Given the description of an element on the screen output the (x, y) to click on. 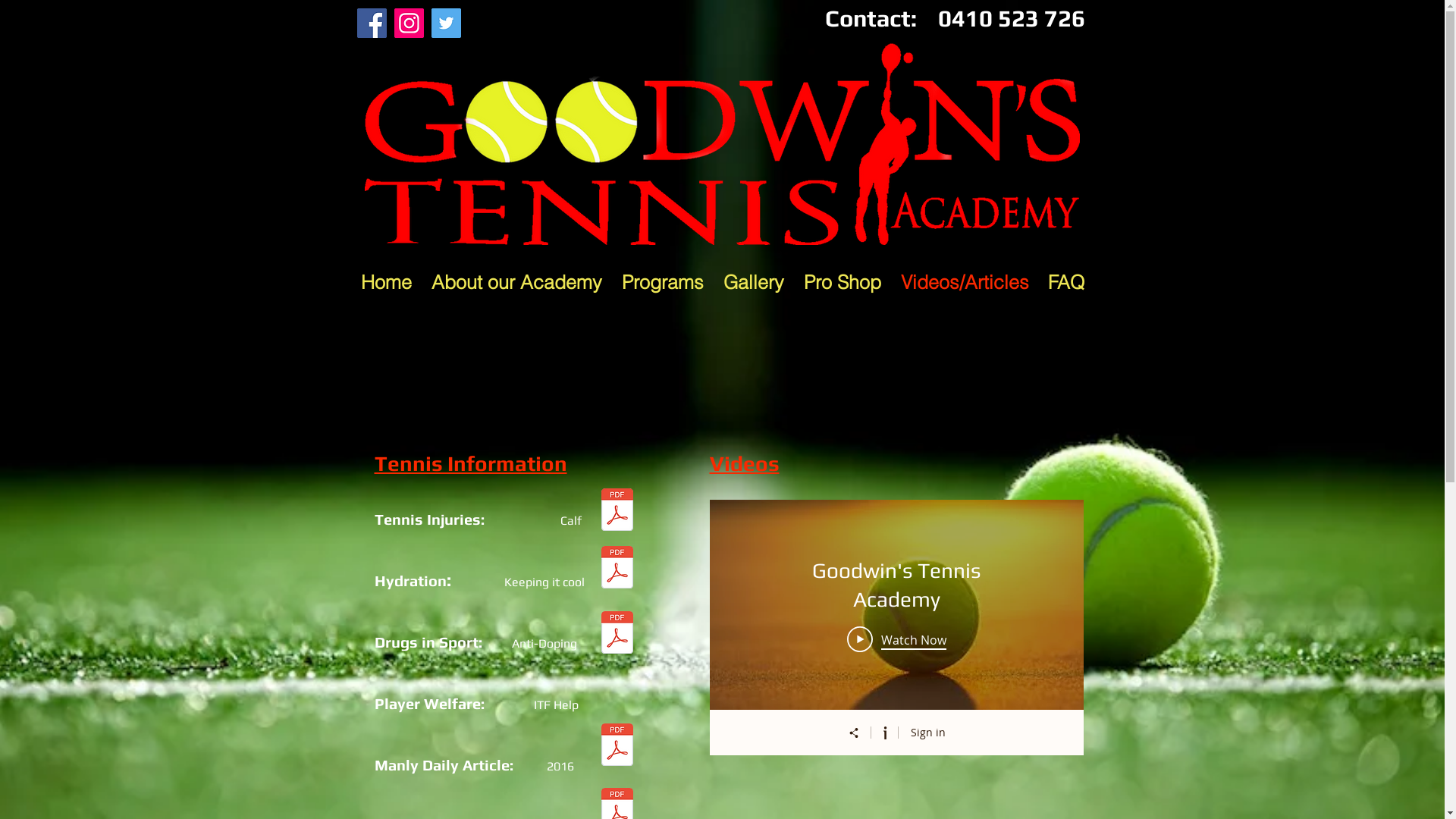
Player Welfare Poster.pdf Element type: hover (617, 745)
Keep your Cool Poster.pdf Element type: hover (617, 568)
Programs Element type: text (661, 282)
Calf PHYSIOTHERAPY.pdf Element type: hover (617, 510)
Home Element type: text (385, 282)
Pro Shop Element type: text (841, 282)
Videos/Articles Element type: text (964, 282)
Sign in Element type: text (927, 732)
Antidoping wallet book.pdf Element type: hover (617, 634)
Gallery Element type: text (752, 282)
About our Academy Element type: text (516, 282)
FAQ Element type: text (1066, 282)
